Given the description of an element on the screen output the (x, y) to click on. 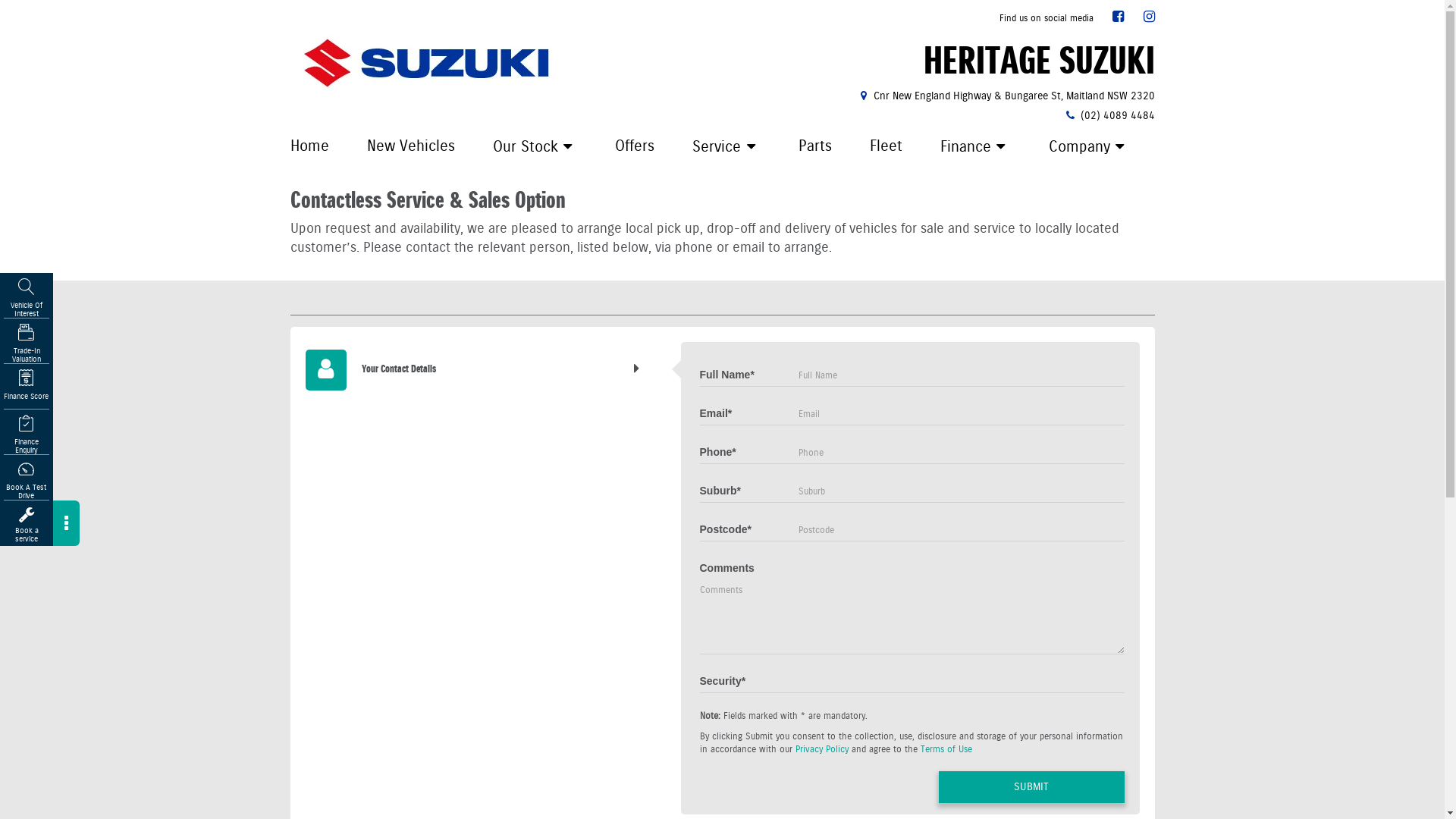
Company Element type: text (1088, 146)
Terms of Use Element type: text (946, 749)
Cnr New England Highway & Bungaree St, Maitland NSW 2320 Element type: text (1005, 95)
Service Element type: text (726, 146)
Our Stock Element type: text (534, 146)
SUBMIT Element type: text (1031, 787)
Facebook Element type: hover (1117, 17)
(02) 4089 4484 Element type: text (1108, 115)
Book A Test Drive Element type: text (26, 480)
Vehicle Of Interest Element type: text (26, 298)
Book a service Element type: text (26, 524)
Home Element type: text (310, 146)
Fleet Element type: text (885, 146)
Parts Element type: text (814, 146)
Finance Element type: text (975, 146)
Offers Element type: text (634, 146)
New Vehicles Element type: text (410, 146)
Finance Score Element type: text (26, 389)
Privacy Policy Element type: text (820, 749)
Trade-In Valuation Element type: text (26, 343)
Finance Enquiry Element type: text (26, 434)
Instagram Element type: hover (1148, 17)
